Given the description of an element on the screen output the (x, y) to click on. 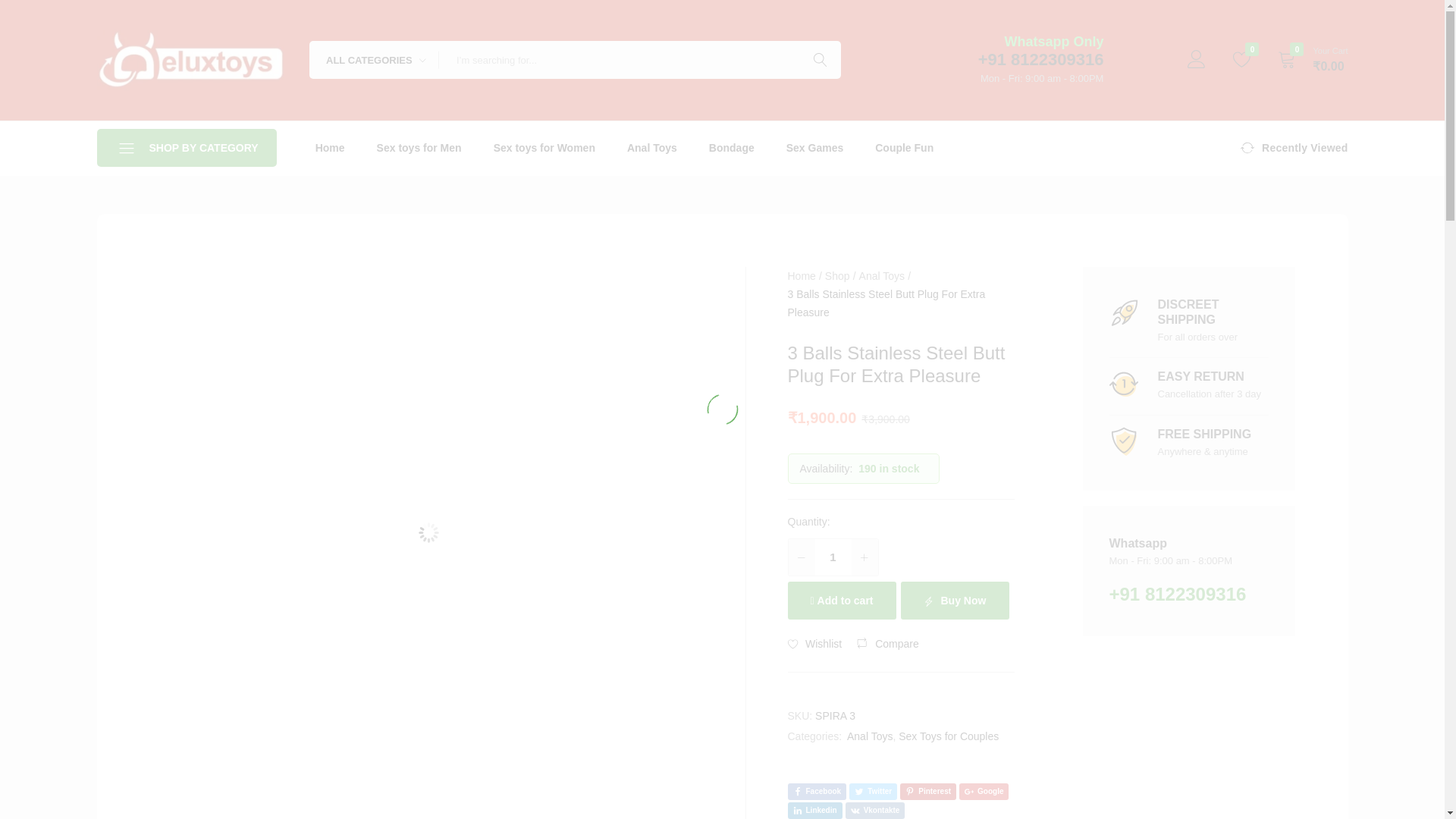
3 Balls Stainless Steel Butt Plug For Extra Pleasure (816, 791)
1 (833, 556)
Bondage (731, 147)
3 Balls Stainless Steel Butt Plug For Extra Pleasure (872, 791)
Shop (837, 275)
Home (801, 275)
Sex toys for Men (419, 147)
Sex Games (815, 147)
homepage-new-image-box-img-3 (1123, 441)
Home (330, 147)
